Given the description of an element on the screen output the (x, y) to click on. 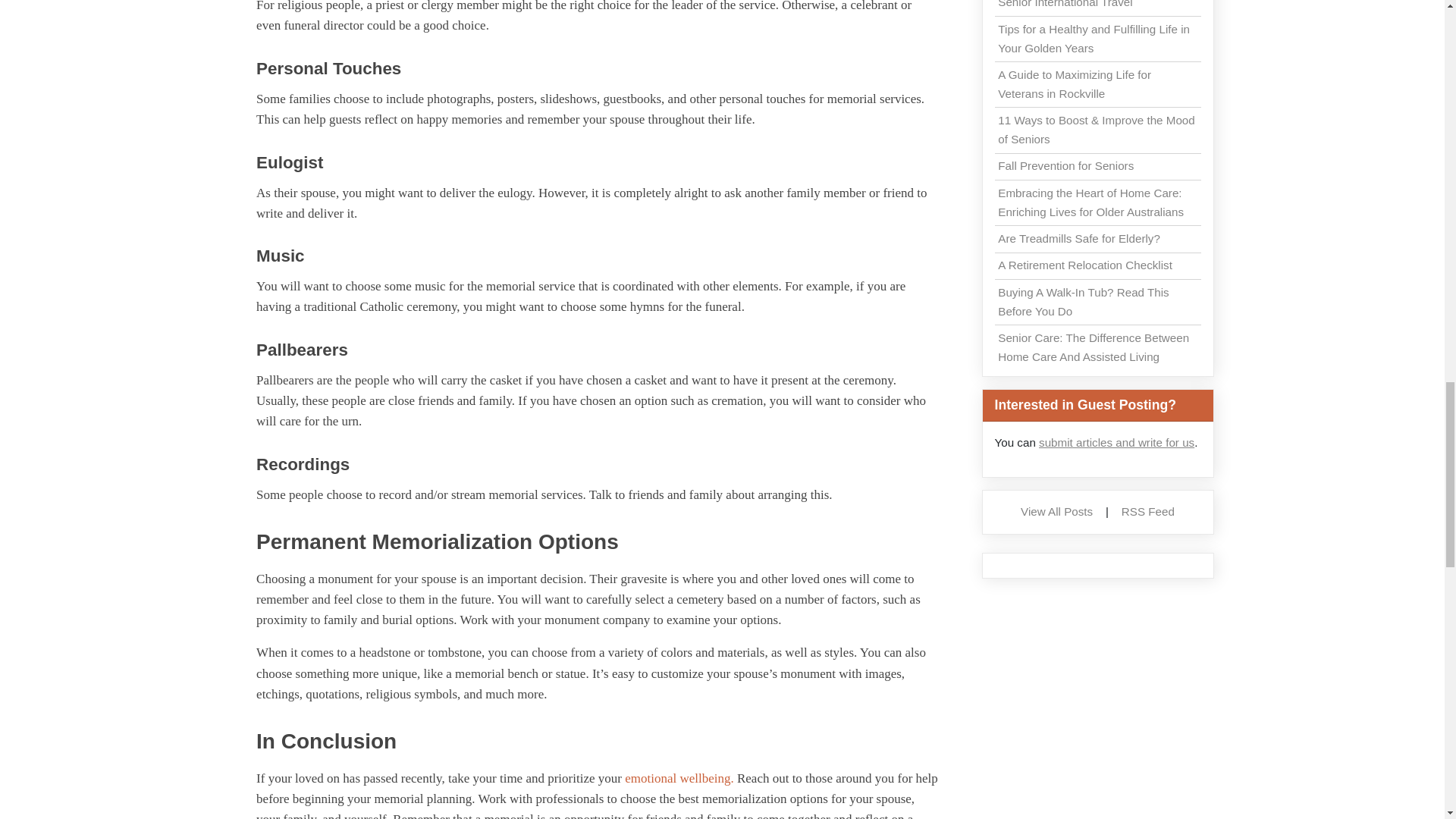
emotional wellbeing. (678, 778)
